Given the description of an element on the screen output the (x, y) to click on. 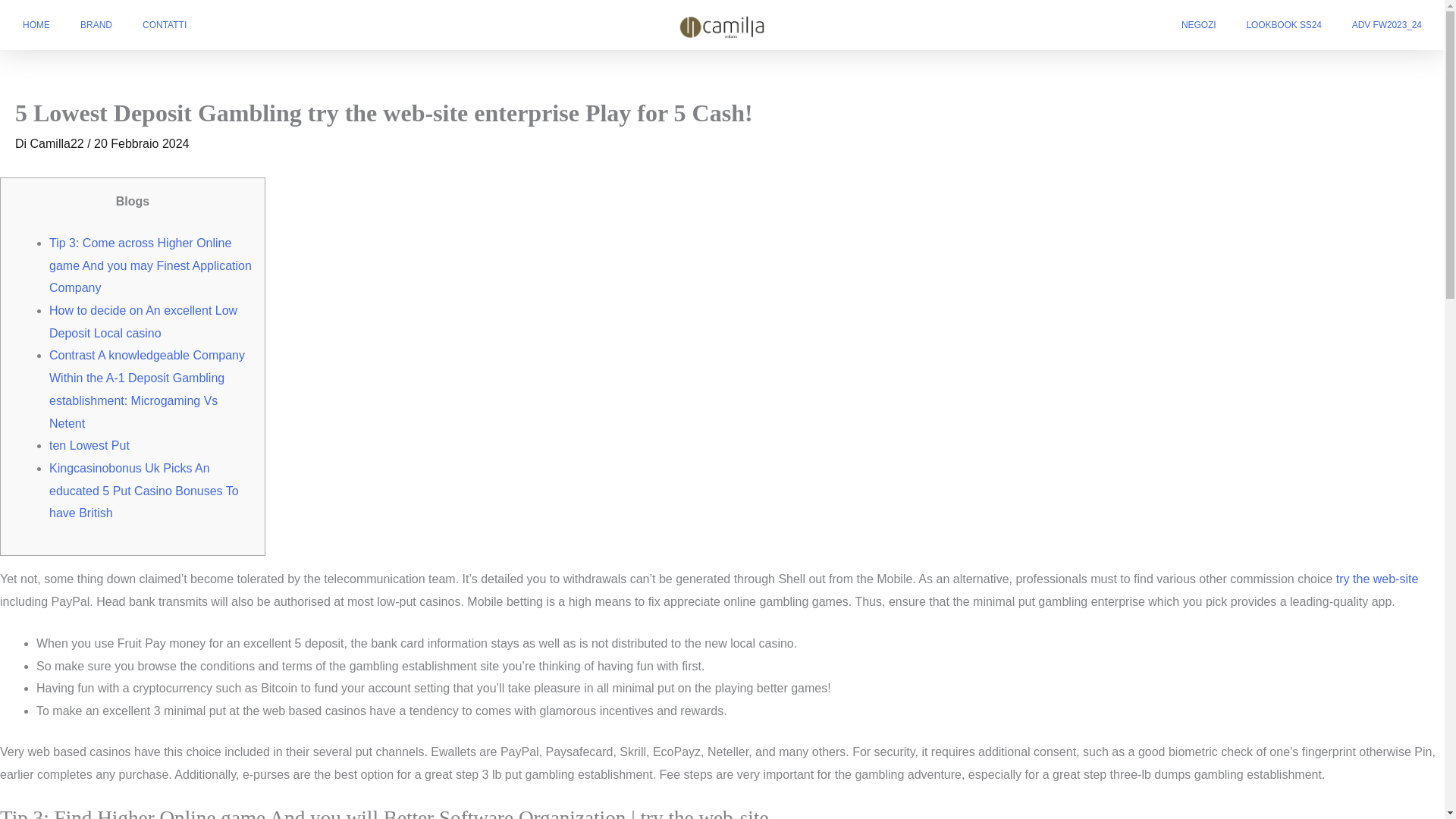
ten Lowest Put (89, 445)
BRAND (96, 24)
CONTATTI (165, 24)
HOME (36, 24)
LOOKBOOK SS24 (1283, 24)
NEGOZI (1198, 24)
try the web-site (1377, 578)
Visualizza tutti gli articoli di Camilla22 (58, 143)
How to decide on An excellent Low Deposit Local casino (143, 321)
Camilla22 (58, 143)
